Given the description of an element on the screen output the (x, y) to click on. 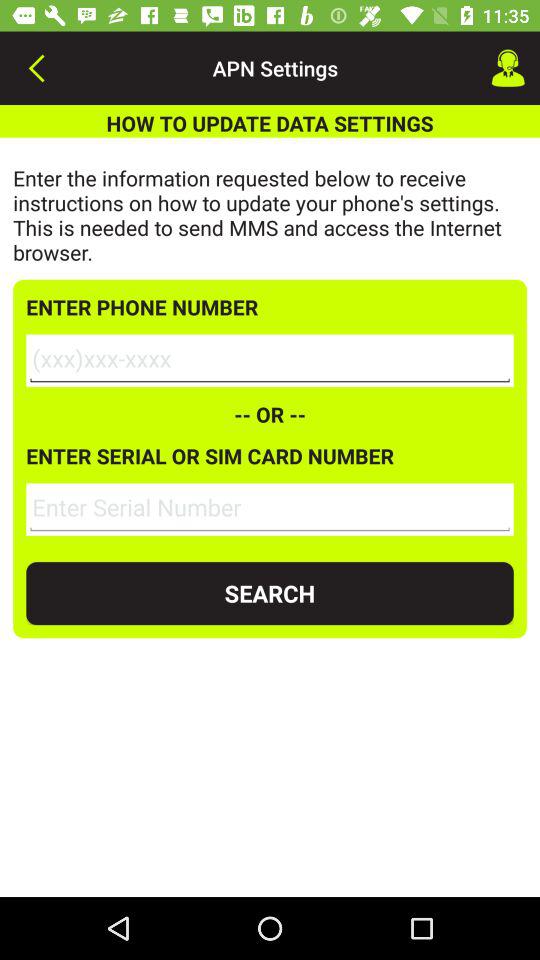
choose icon at the top right corner (508, 67)
